Given the description of an element on the screen output the (x, y) to click on. 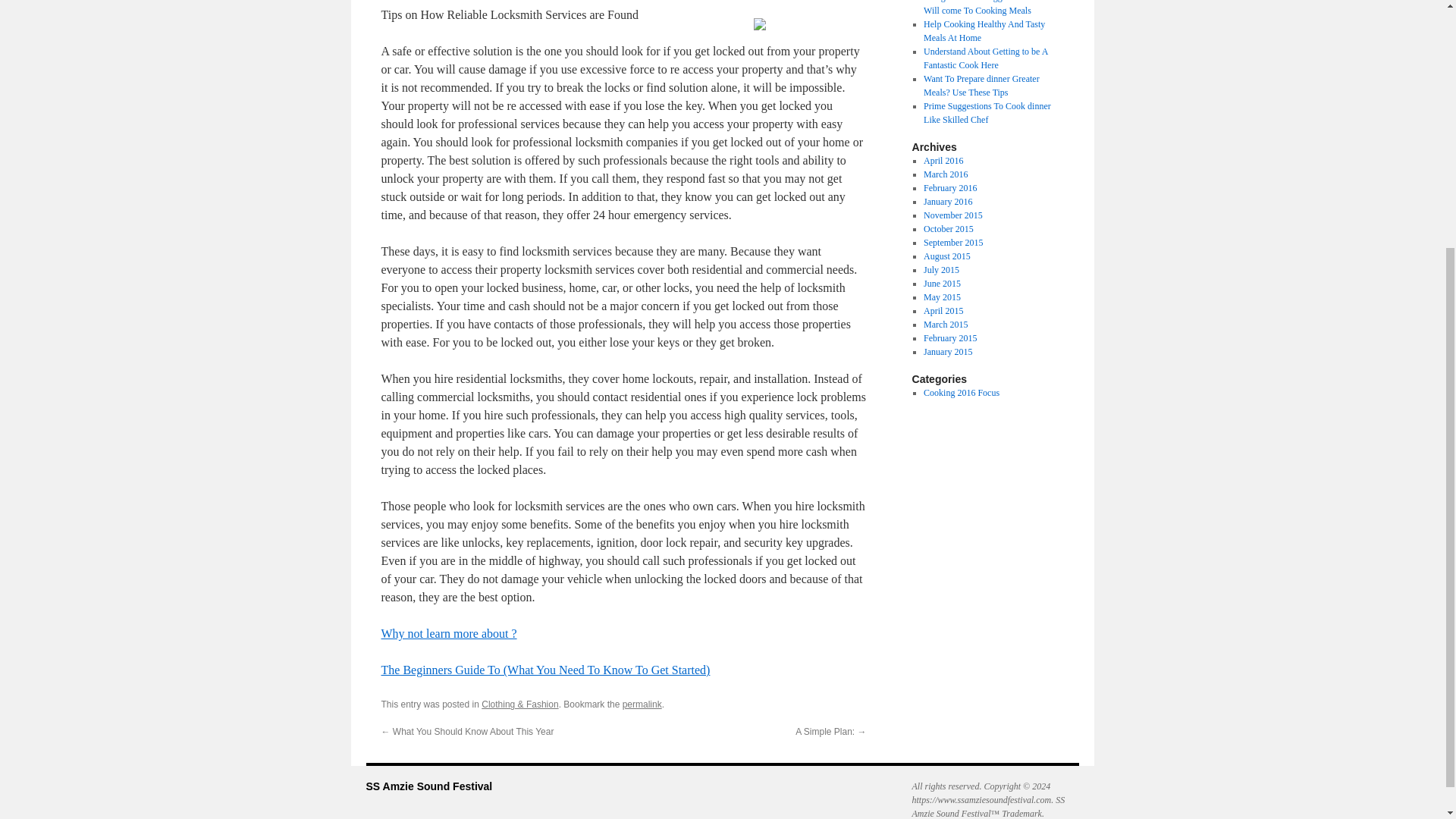
July 2015 (941, 269)
May 2015 (941, 296)
permalink (642, 704)
August 2015 (947, 255)
Understand About Getting to be A Fantastic Cook Here (985, 57)
SS Amzie Sound Festival (428, 786)
November 2015 (952, 214)
March 2015 (945, 324)
March 2016 (945, 173)
Prime Suggestions To Cook dinner Like Skilled Chef (987, 112)
